Given the description of an element on the screen output the (x, y) to click on. 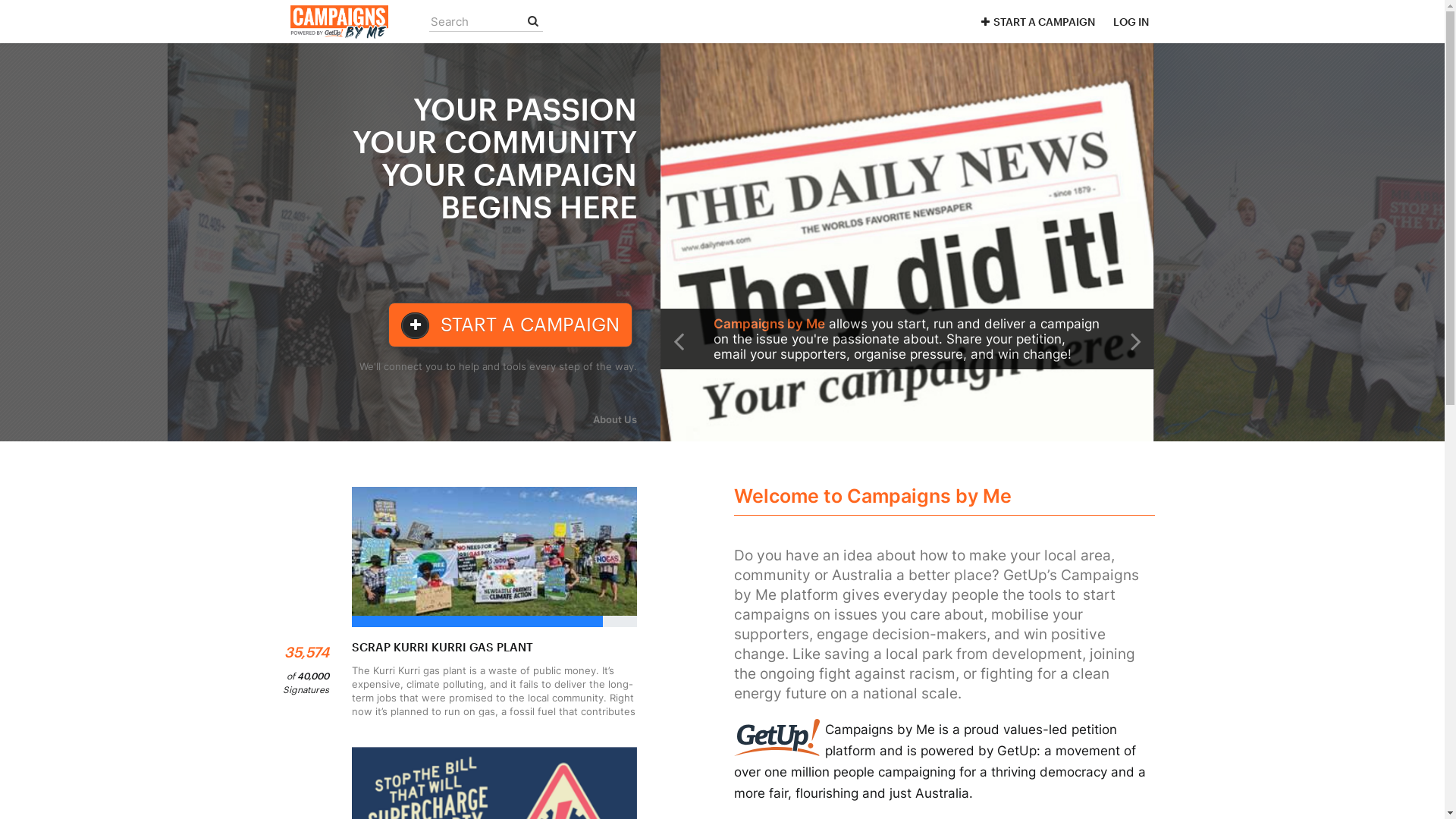
Skip to main content Element type: text (0, 0)
LOG IN Element type: text (1130, 21)
About Us Element type: text (615, 419)
START A CAMPAIGN Element type: text (510, 324)
START A CAMPAIGN Element type: text (1035, 21)
